Given the description of an element on the screen output the (x, y) to click on. 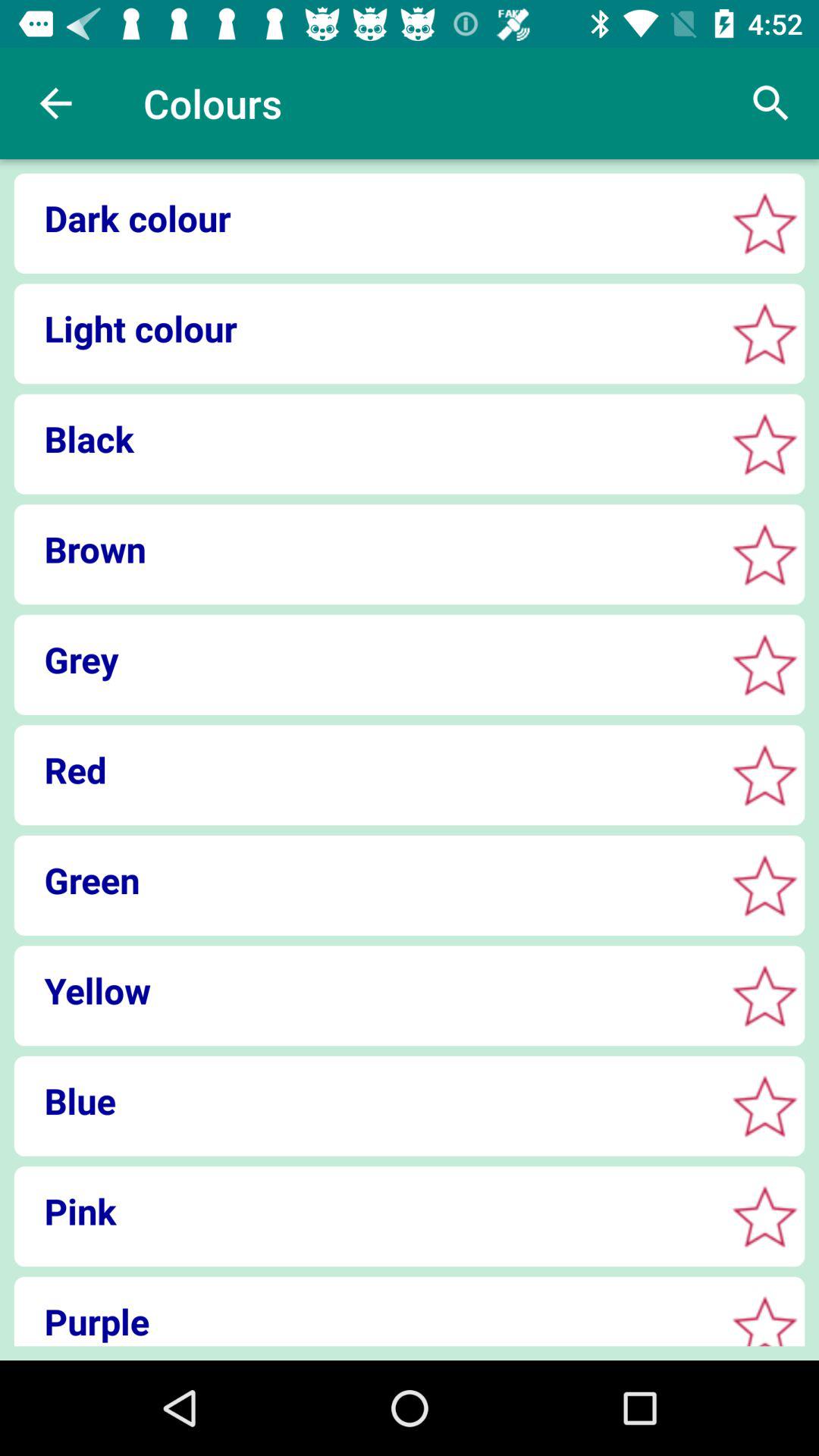
choose the icon above yellow (364, 879)
